Given the description of an element on the screen output the (x, y) to click on. 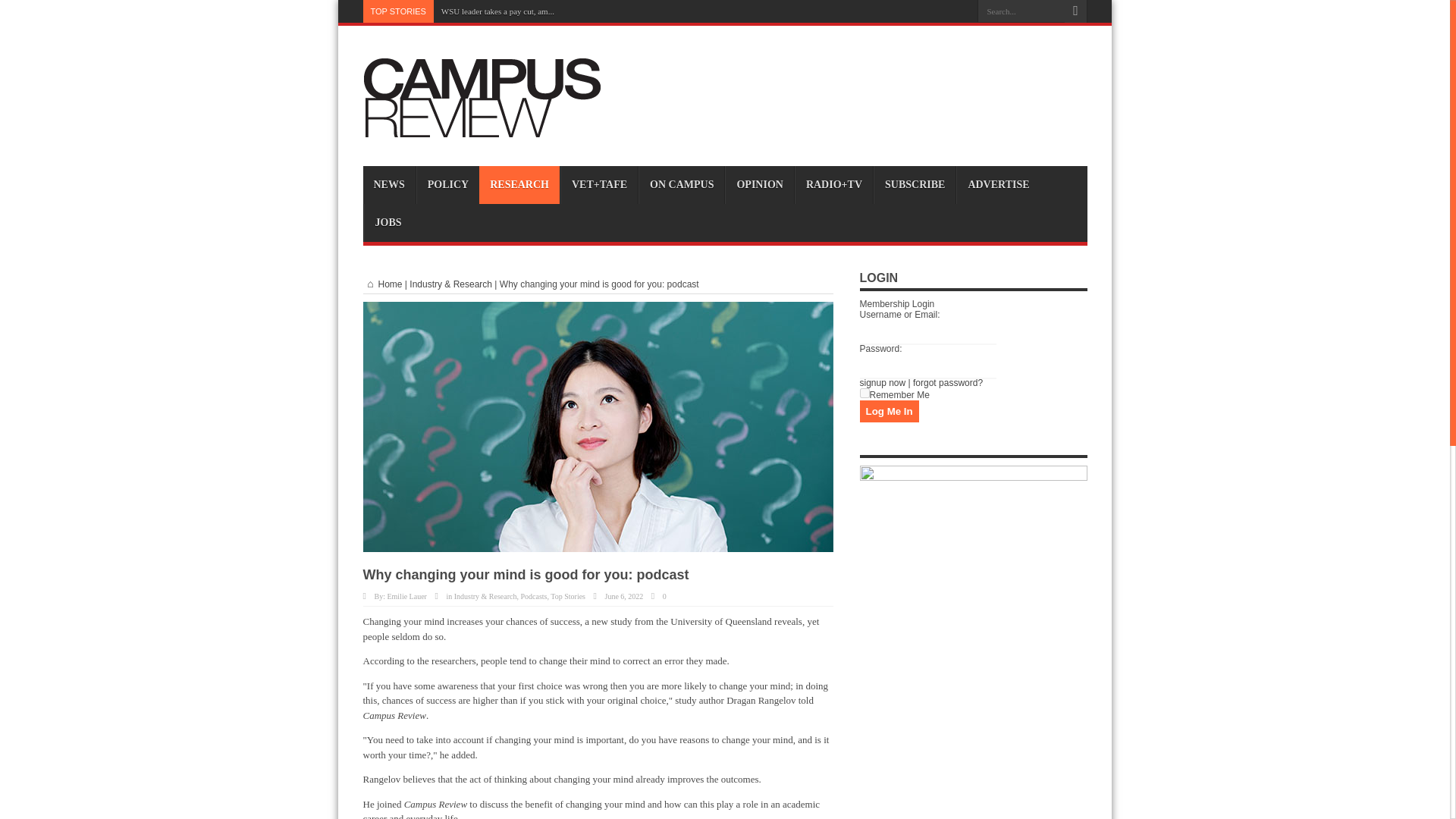
Home (381, 284)
forever (864, 393)
POLICY (447, 184)
Campus Review (481, 128)
ADVERTISE (997, 184)
SUBSCRIBE (914, 184)
JOBS (388, 222)
OPINION (759, 184)
Log Me In (889, 411)
WSU leader takes a pay cut, am... (497, 11)
